Given the description of an element on the screen output the (x, y) to click on. 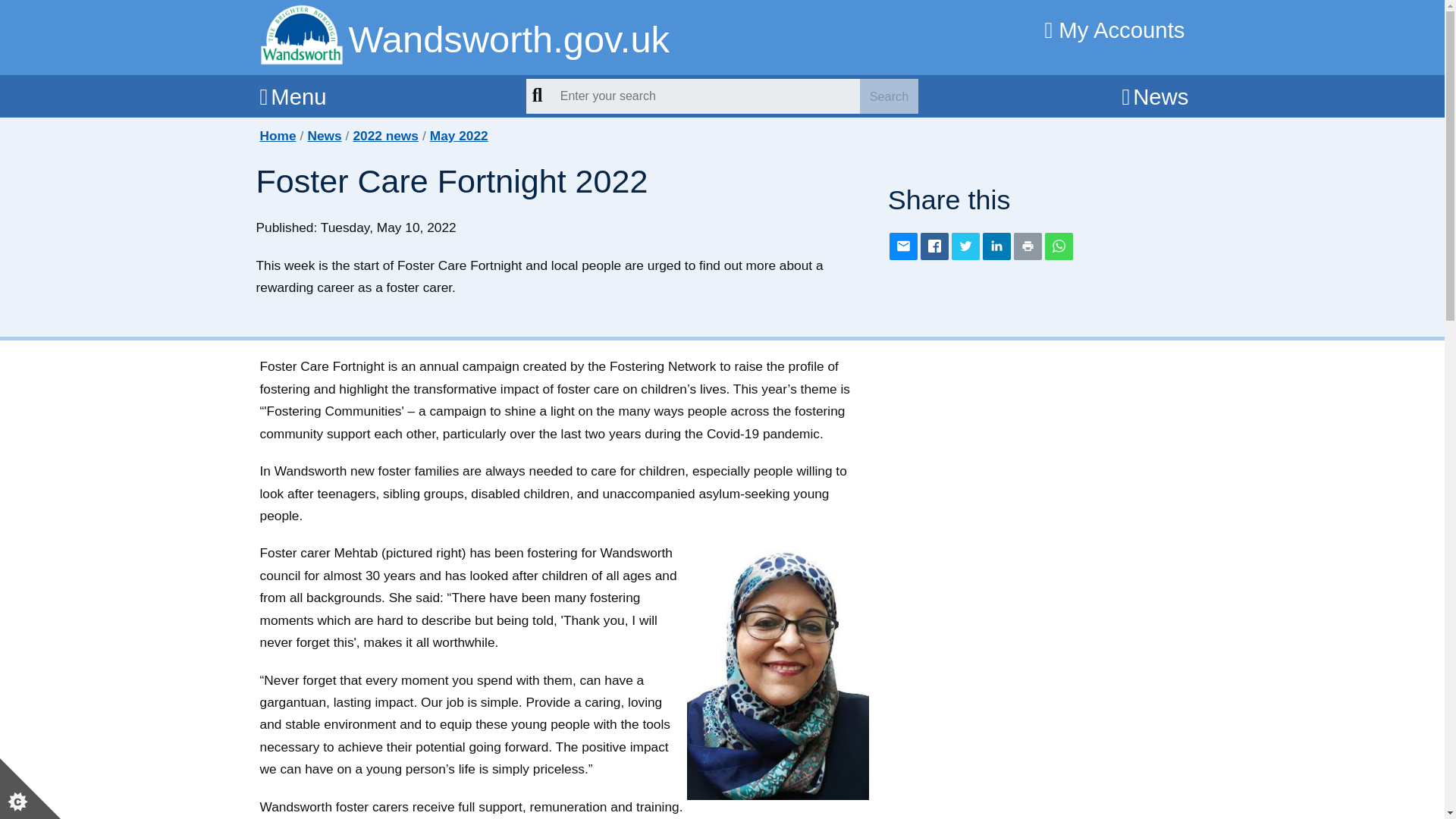
Menu (293, 96)
Share with Whatsapp (1059, 246)
Share with LinkedIn (996, 246)
Search (889, 95)
My Accounts (1115, 25)
Share with Twitter (965, 246)
Share by email (903, 246)
News (1154, 96)
Share with Facebook (934, 246)
Print this page (1027, 246)
